Given the description of an element on the screen output the (x, y) to click on. 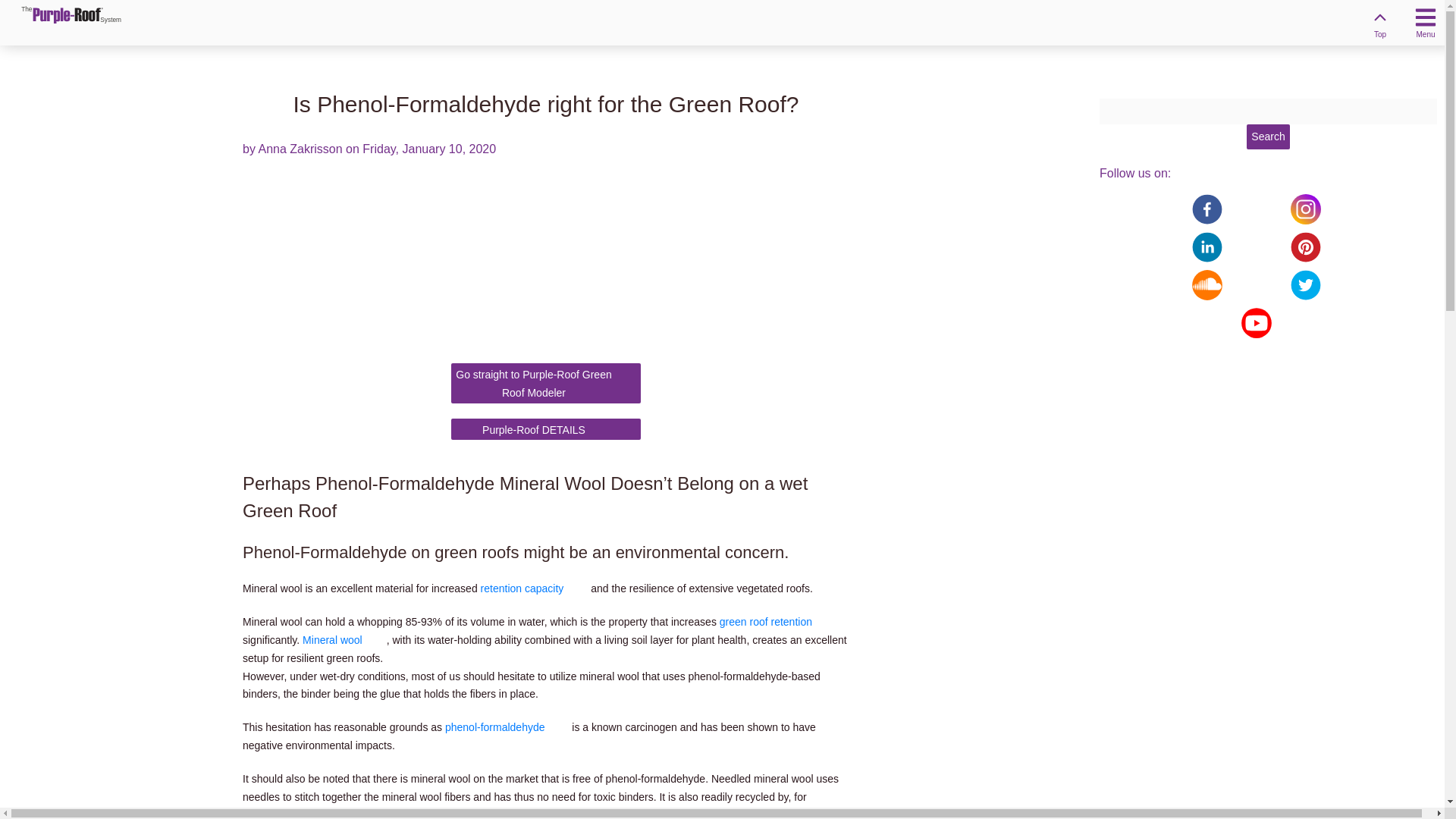
Purple-Roof Green Roof Modeler (545, 383)
Mineral wool (344, 639)
Go straight to Purple-Roof Green Roof Modeler (545, 383)
retention capacity (534, 588)
Green roof retention explained (534, 588)
Evapotranspiration determines green roof retention! (777, 621)
green roof retention (60, 21)
Purple-Roof DETAILS (777, 621)
phenol-formaldehyde (545, 429)
Search (507, 727)
Purple-Roof Details (1267, 136)
Learn more about mineral wool! (71, 13)
Phenol-formaldehyde explained (545, 429)
